Given the description of an element on the screen output the (x, y) to click on. 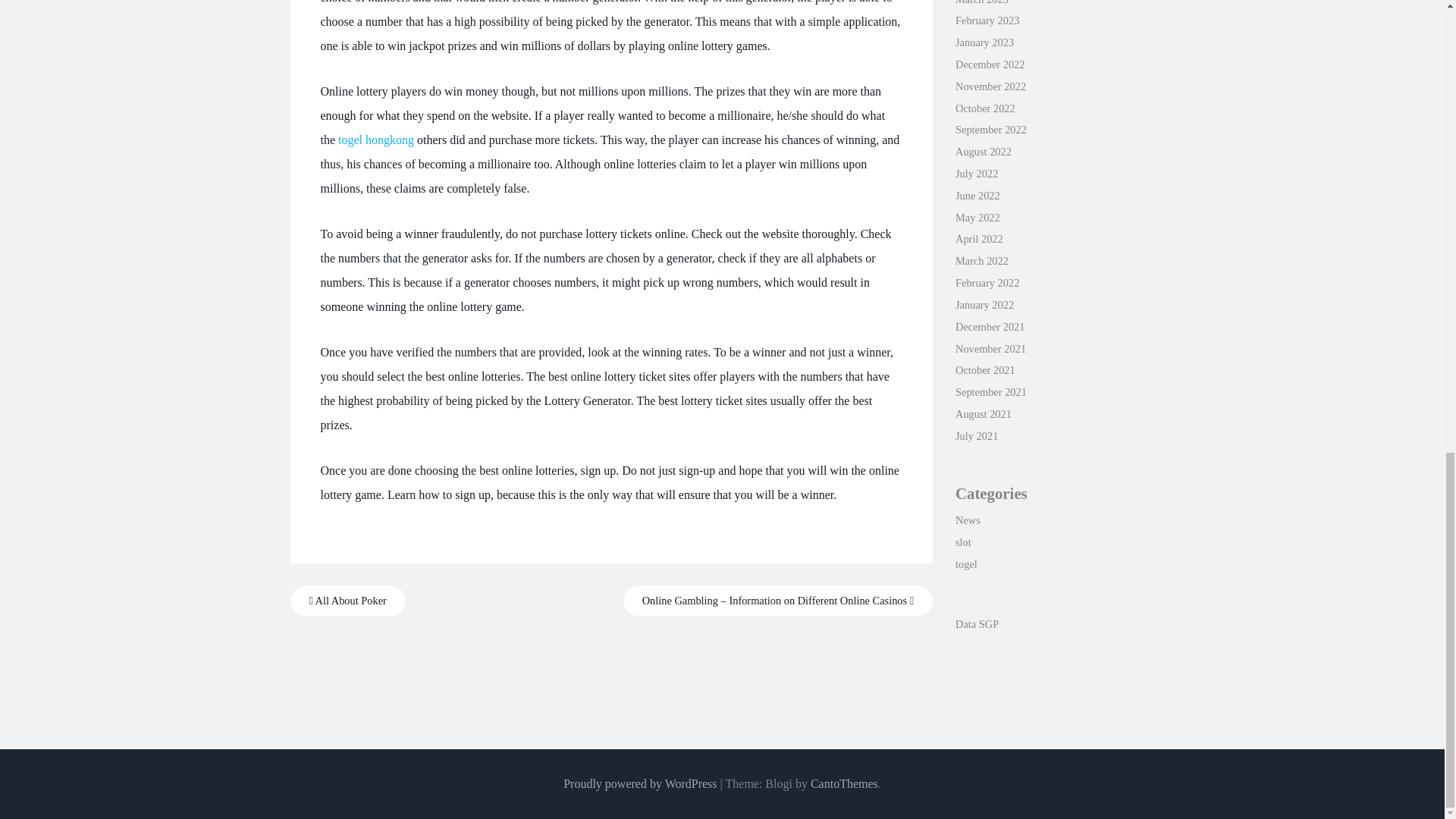
All About Poker (346, 600)
December 2022 (990, 64)
August 2022 (983, 151)
October 2022 (984, 108)
March 2023 (982, 2)
November 2022 (990, 86)
January 2023 (984, 42)
February 2023 (987, 20)
September 2022 (990, 129)
togel hongkong (375, 139)
